Given the description of an element on the screen output the (x, y) to click on. 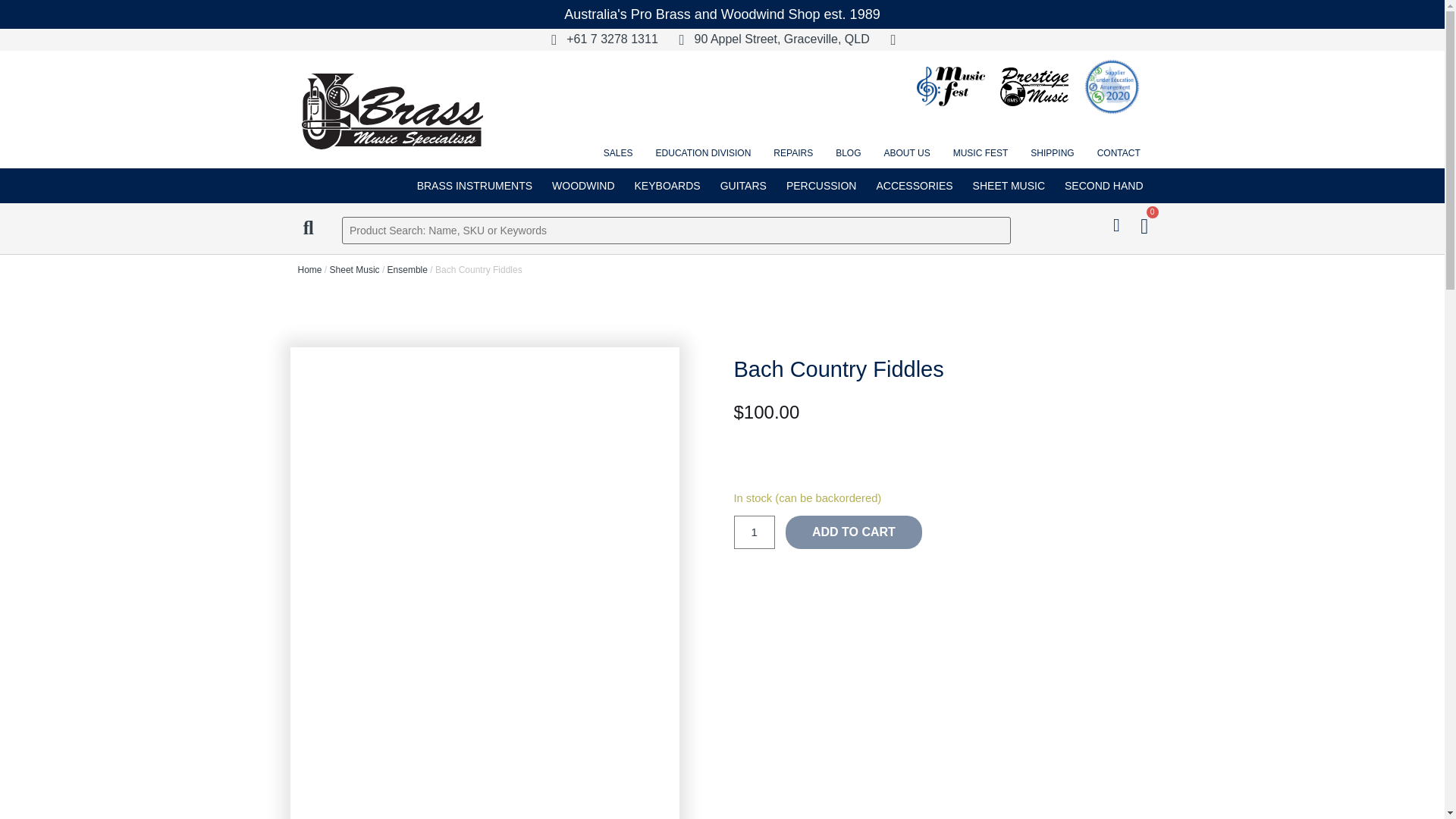
90 Appel Street, Graceville, QLD (767, 39)
SALES (618, 153)
1 (753, 531)
SHIPPING (1052, 153)
MUSIC FEST (981, 153)
EDUCATION DIVISION (703, 153)
ABOUT US (906, 153)
CONTACT (1118, 153)
Australia's Pro Brass and Woodwind Shop est. 1989 (721, 14)
BRASS INSTRUMENTS (474, 185)
